Given the description of an element on the screen output the (x, y) to click on. 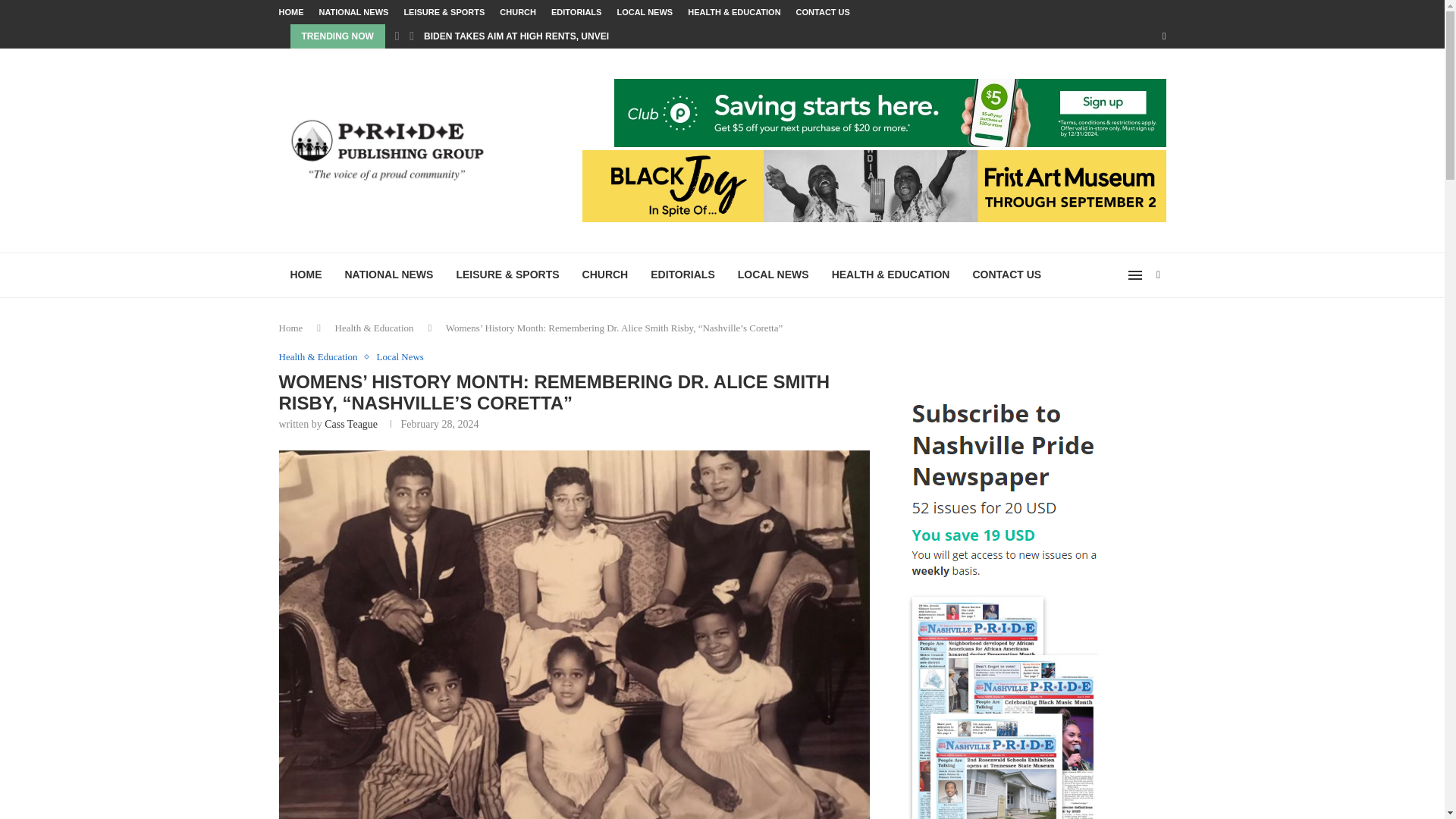
EDITORIALS (576, 12)
NATIONAL NEWS (389, 275)
CHURCH (605, 275)
HOME (306, 275)
NATIONAL NEWS (353, 12)
CONTACT US (823, 12)
EDITORIALS (682, 275)
CHURCH (517, 12)
LOCAL NEWS (773, 275)
BIDEN TAKES AIM AT HIGH RENTS, UNVEILS COMPREHENSIVE... (566, 36)
LOCAL NEWS (643, 12)
HOME (291, 12)
